Given the description of an element on the screen output the (x, y) to click on. 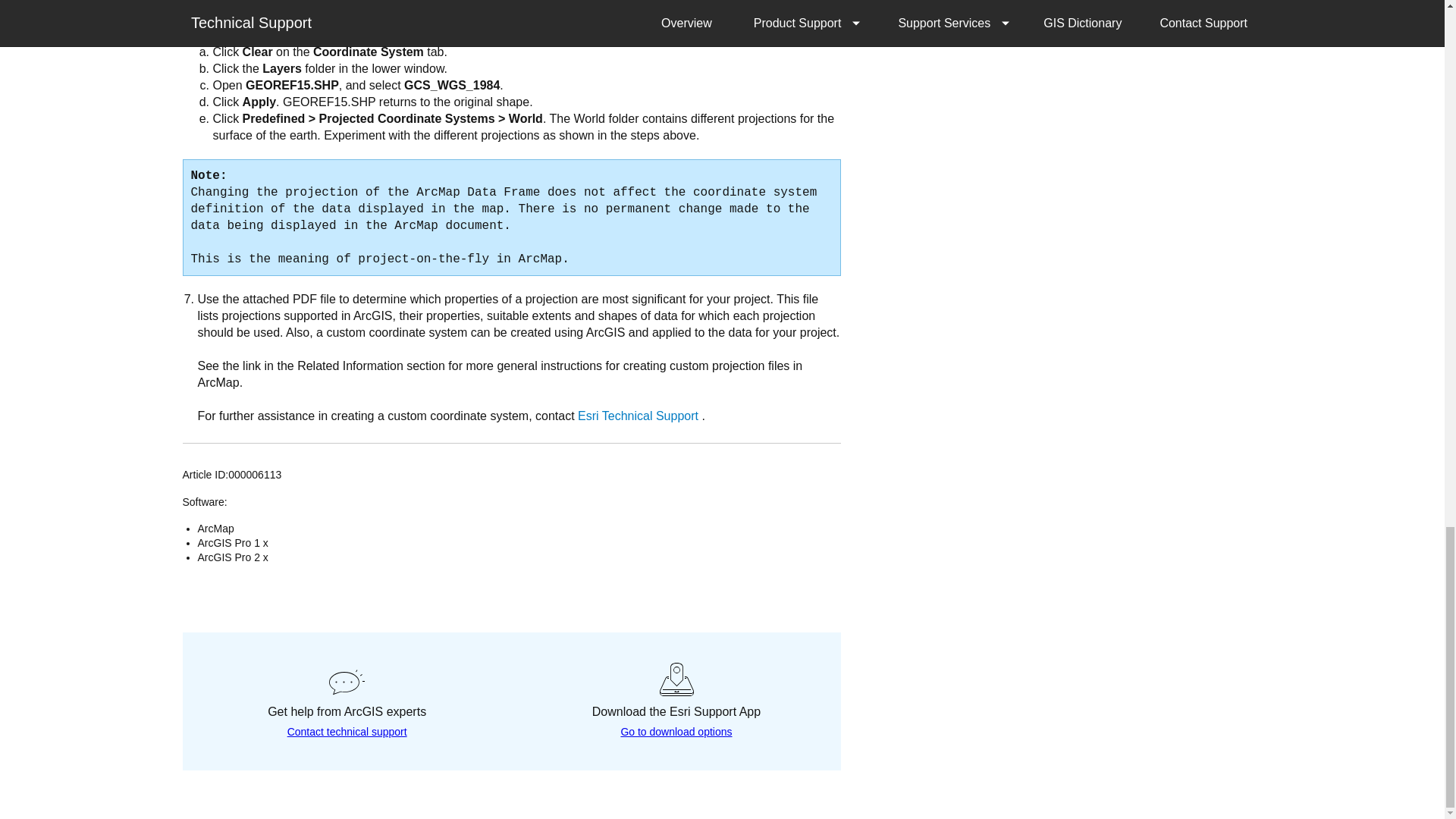
Esri Technical Support (638, 415)
